Given the description of an element on the screen output the (x, y) to click on. 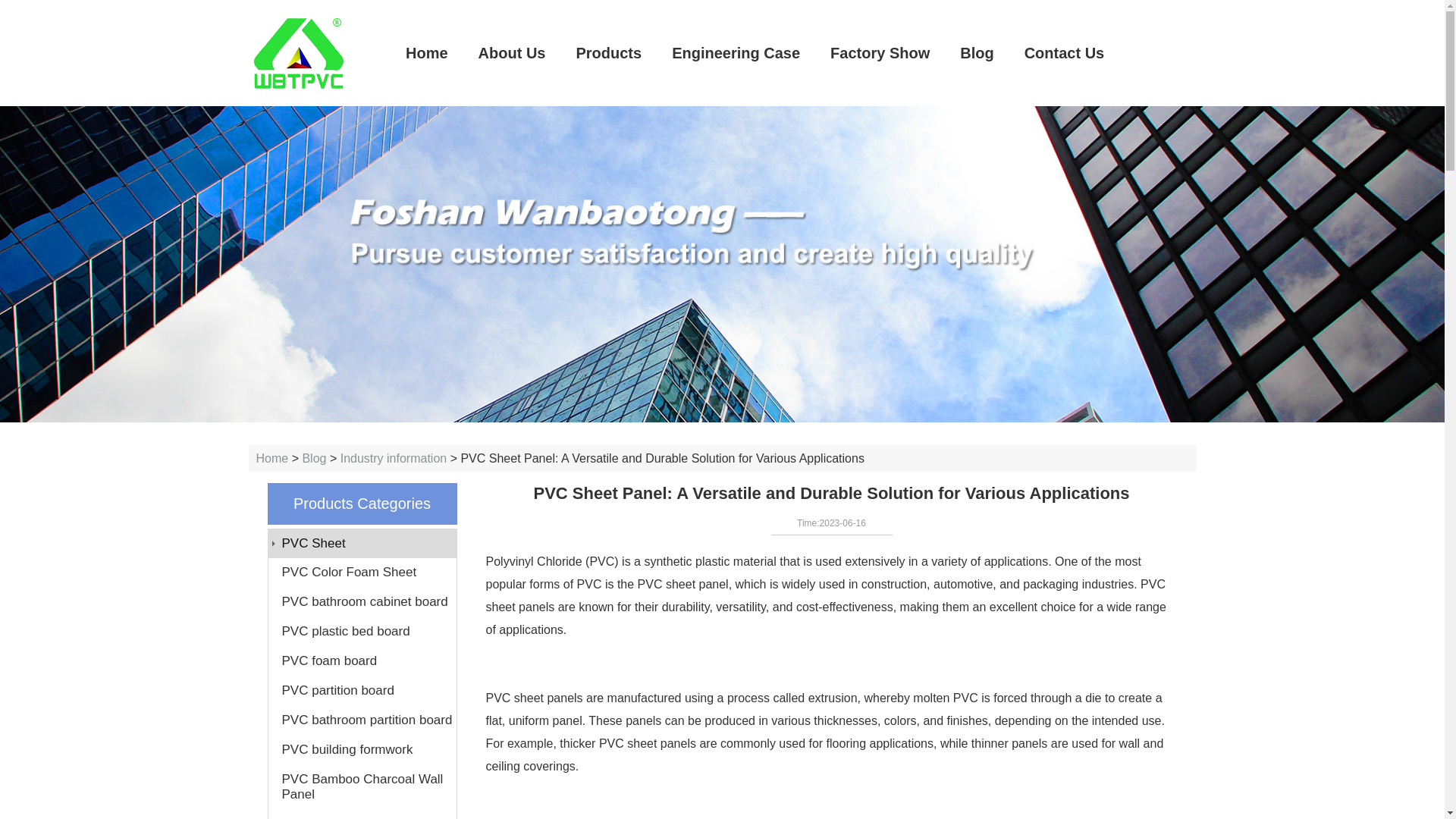
PVC partition board (362, 690)
Home (272, 458)
PVC Bamboo Charcoal Wall Panel (362, 786)
Home (426, 52)
Contact Us (1064, 52)
Blog (313, 458)
Factory Show (879, 52)
PVC building formwork (362, 749)
PVC bathroom partition board (362, 719)
PVC plastic bed board (362, 631)
